Given the description of an element on the screen output the (x, y) to click on. 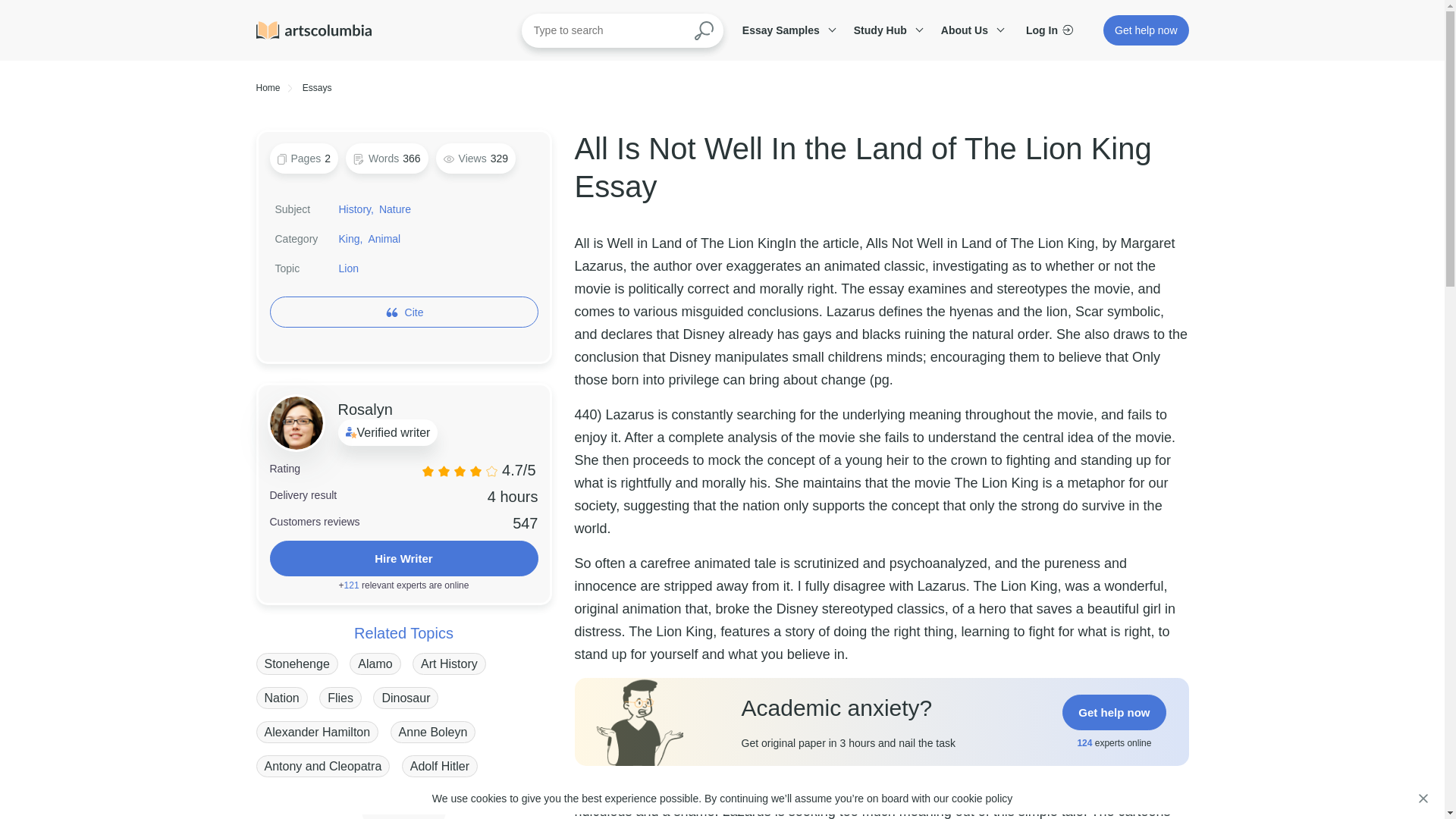
King, (350, 238)
Home (268, 87)
Animal (383, 238)
Study Hub (886, 30)
About Us (970, 30)
Nature (395, 209)
Essay Samples (786, 30)
History, (355, 209)
Log In (1049, 30)
Cite (413, 312)
